Given the description of an element on the screen output the (x, y) to click on. 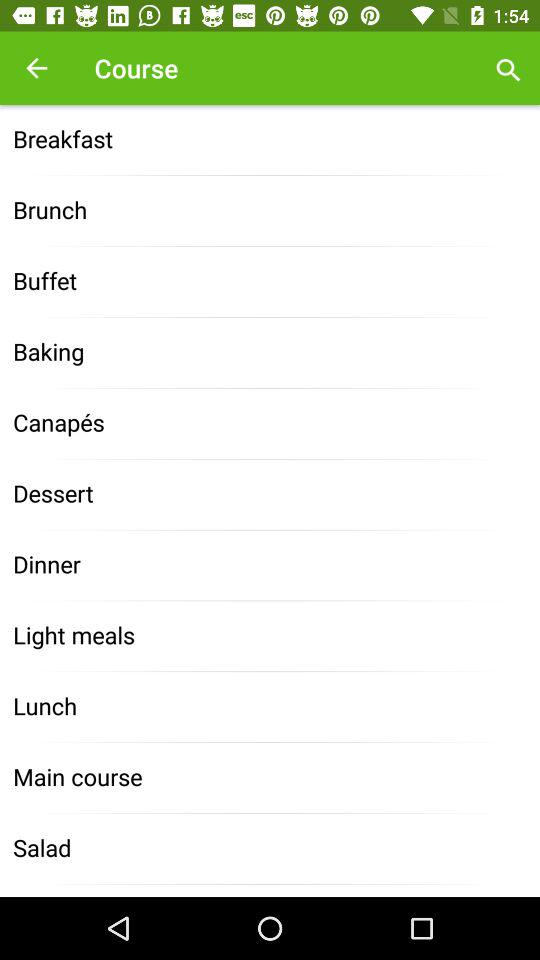
choose the icon below buffet (270, 352)
